Given the description of an element on the screen output the (x, y) to click on. 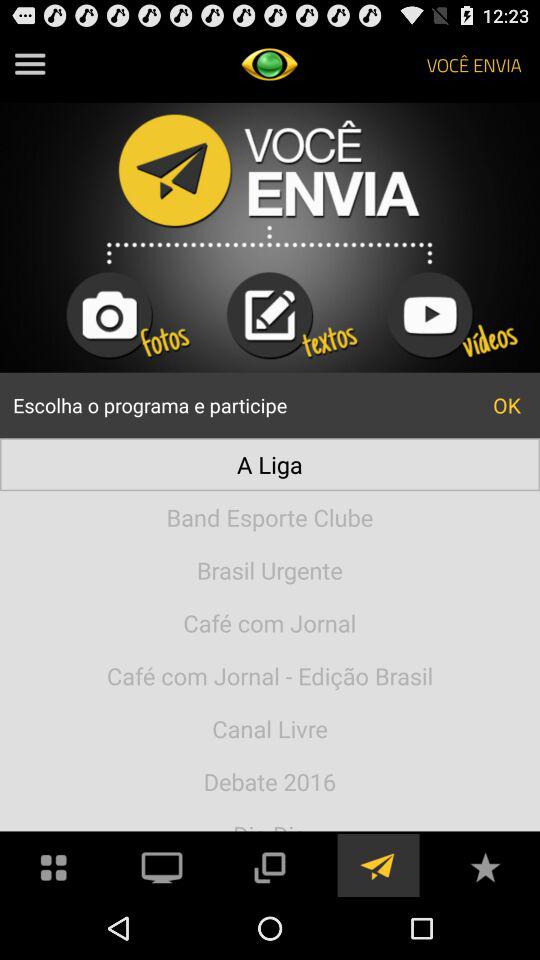
menu option (29, 64)
